Given the description of an element on the screen output the (x, y) to click on. 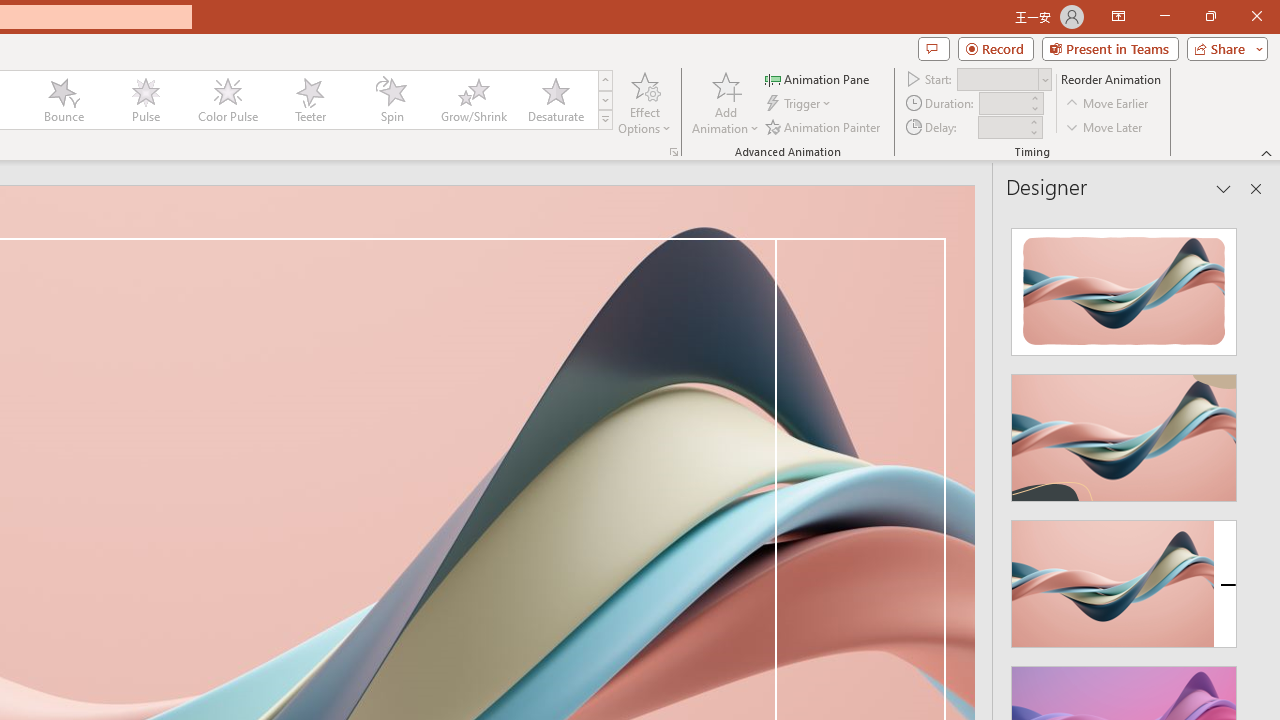
Animation Duration (1003, 103)
Add Animation (725, 102)
Trigger (799, 103)
Spin (391, 100)
Grow/Shrink (473, 100)
Animation Delay (1002, 127)
Effect Options (644, 102)
